Given the description of an element on the screen output the (x, y) to click on. 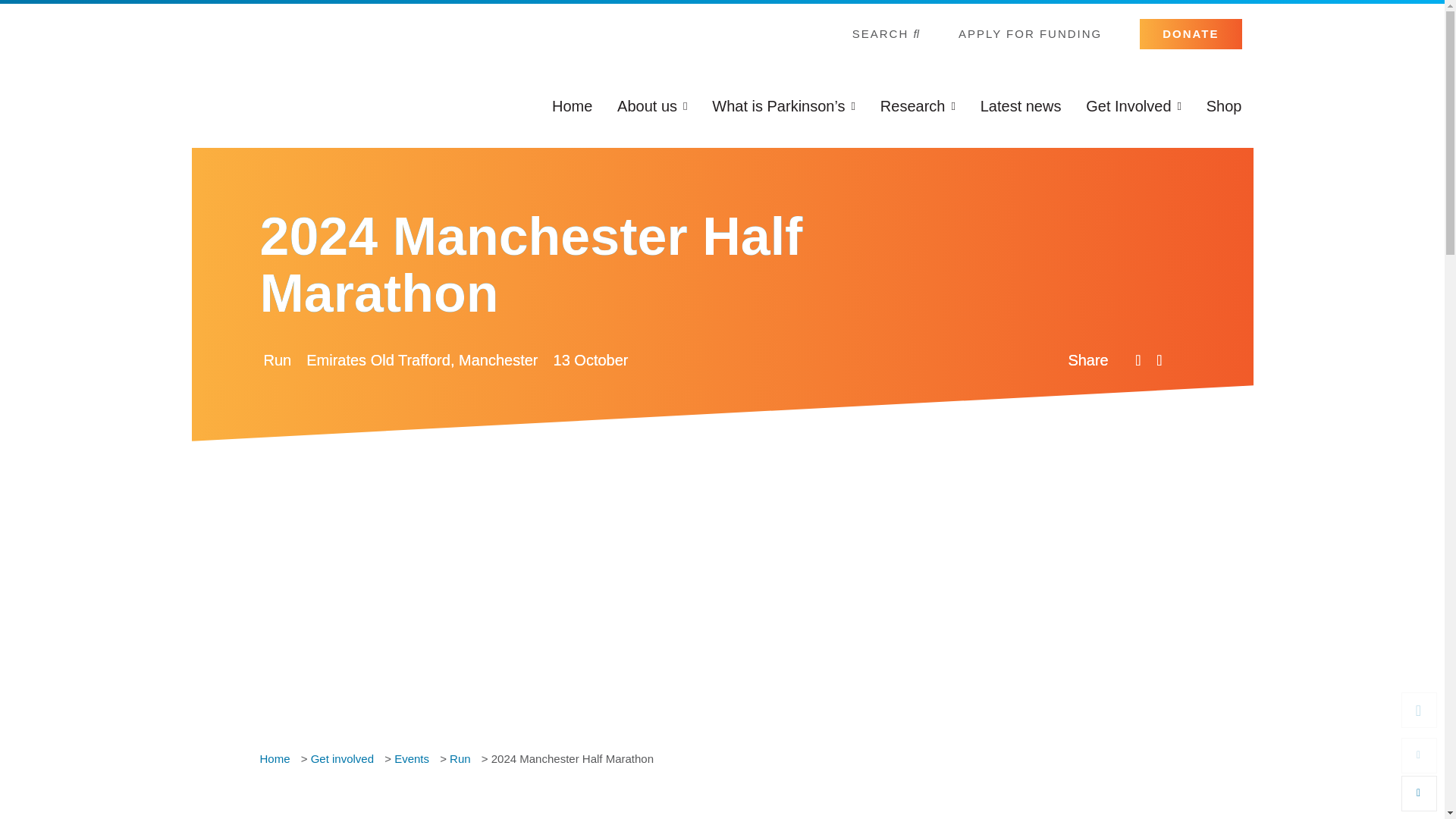
Run (275, 360)
Home (571, 105)
SEARCH (885, 33)
Shop (1224, 105)
Get Involved (1133, 105)
Research (917, 105)
About us (652, 105)
Latest news (1020, 105)
APPLY FOR FUNDING (1030, 33)
Emirates Old Trafford, Manchester (419, 360)
